Given the description of an element on the screen output the (x, y) to click on. 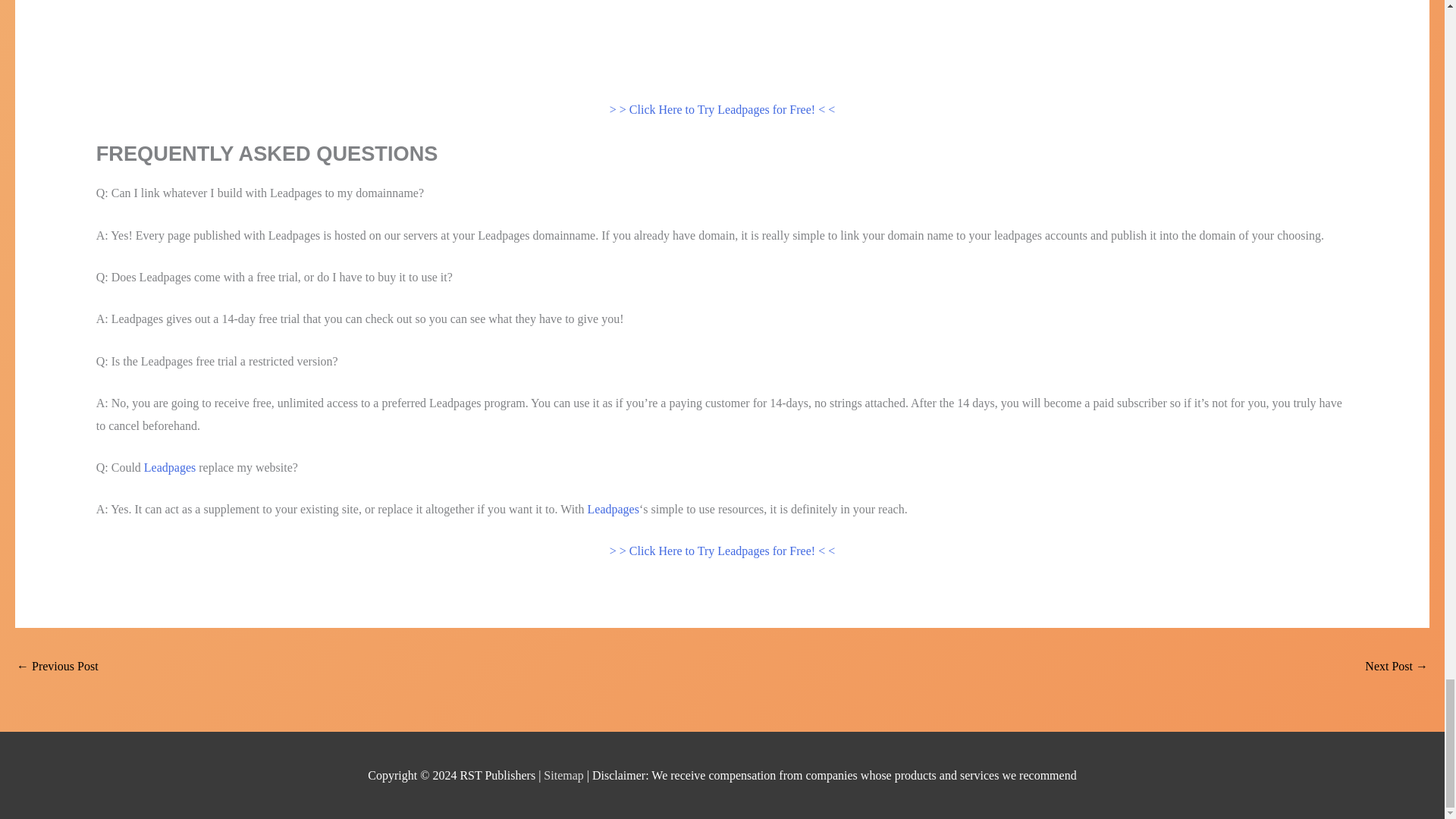
Leadpages (613, 508)
Sitemap (564, 775)
Leadpages (169, 467)
How to Change Design on Mobile Leadpages (1396, 667)
Leadpages and Clickmagick (57, 667)
